Given the description of an element on the screen output the (x, y) to click on. 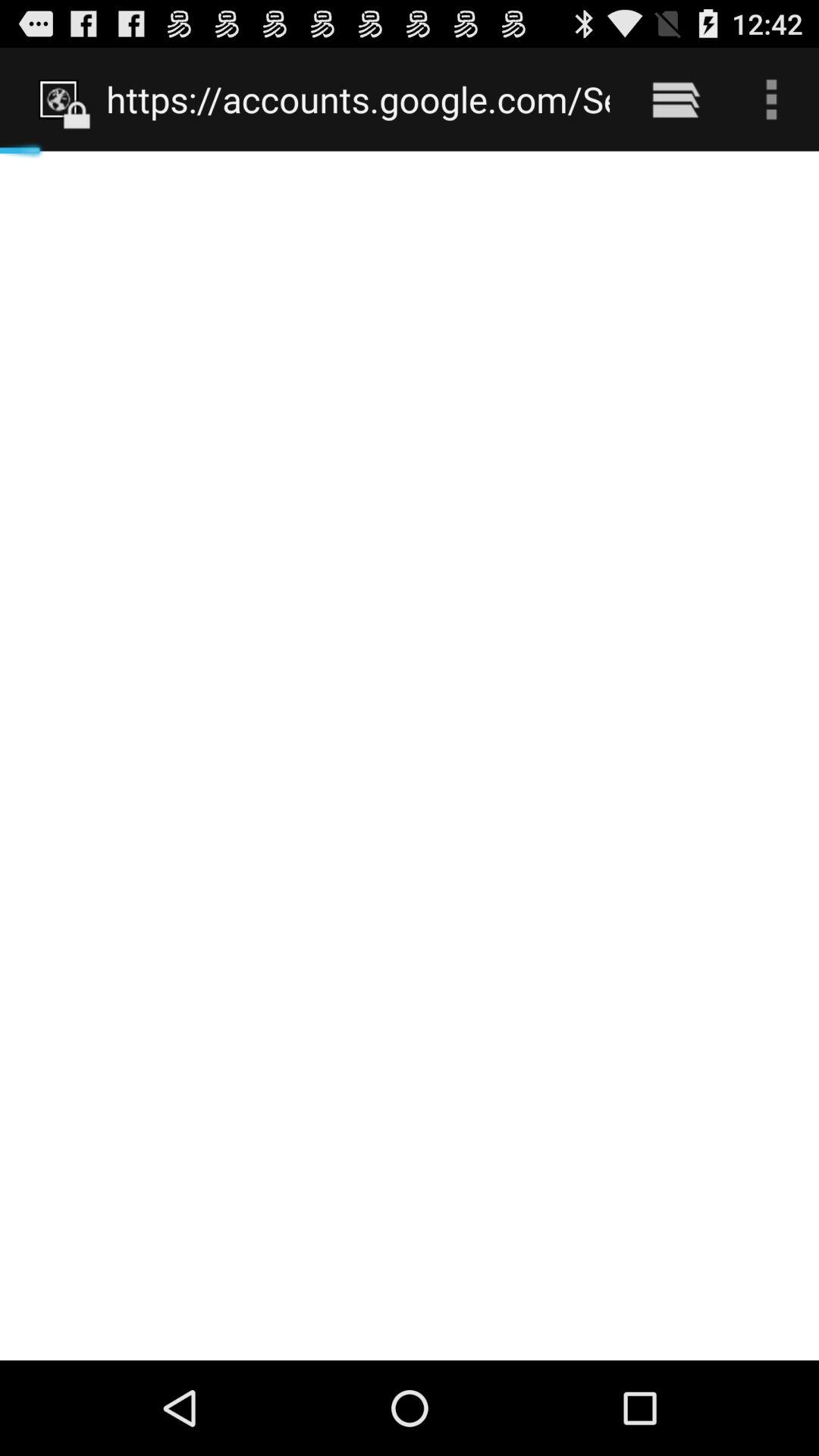
choose icon below the https accounts google (409, 755)
